Given the description of an element on the screen output the (x, y) to click on. 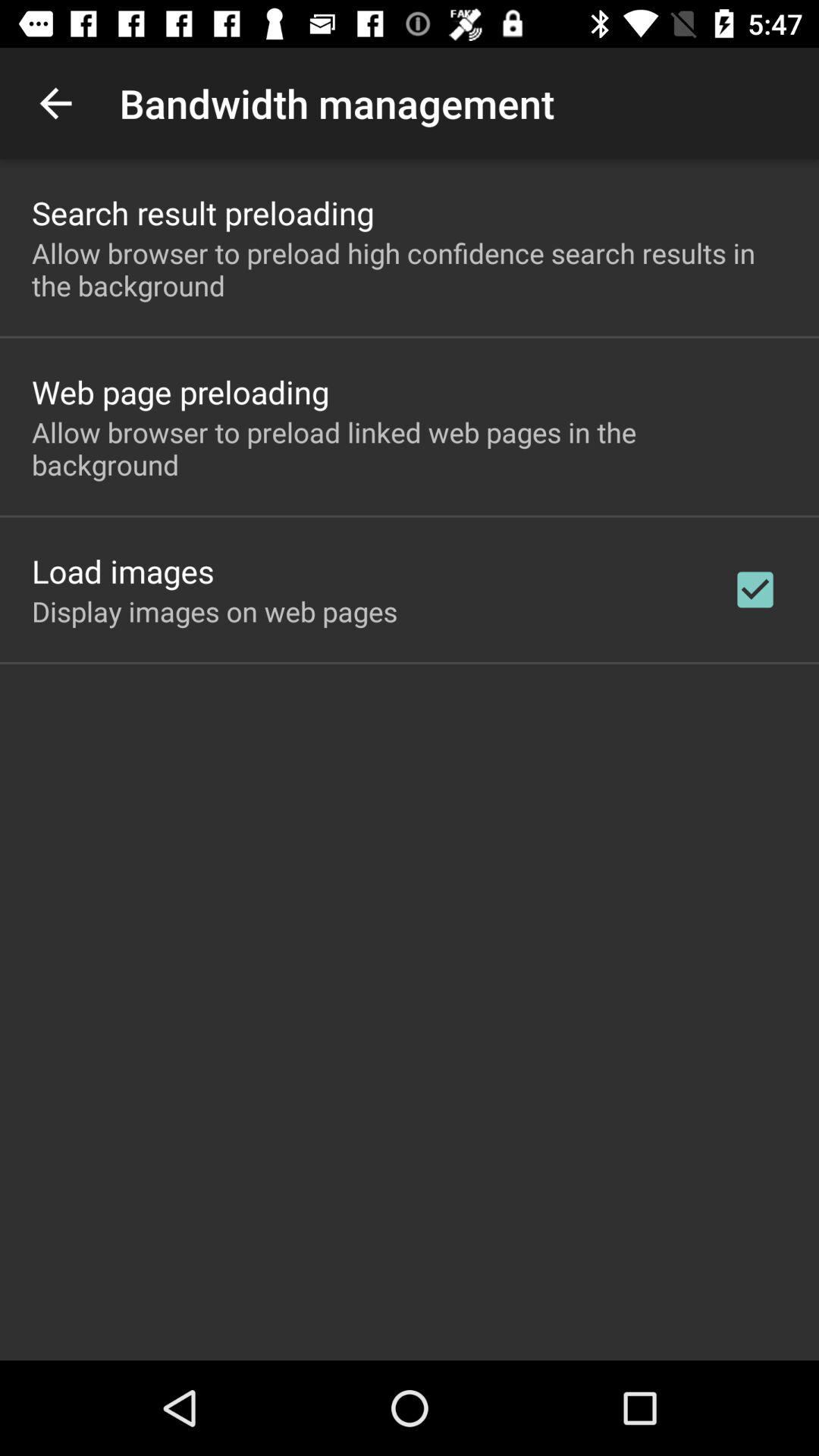
click the item above the allow browser to icon (202, 212)
